Given the description of an element on the screen output the (x, y) to click on. 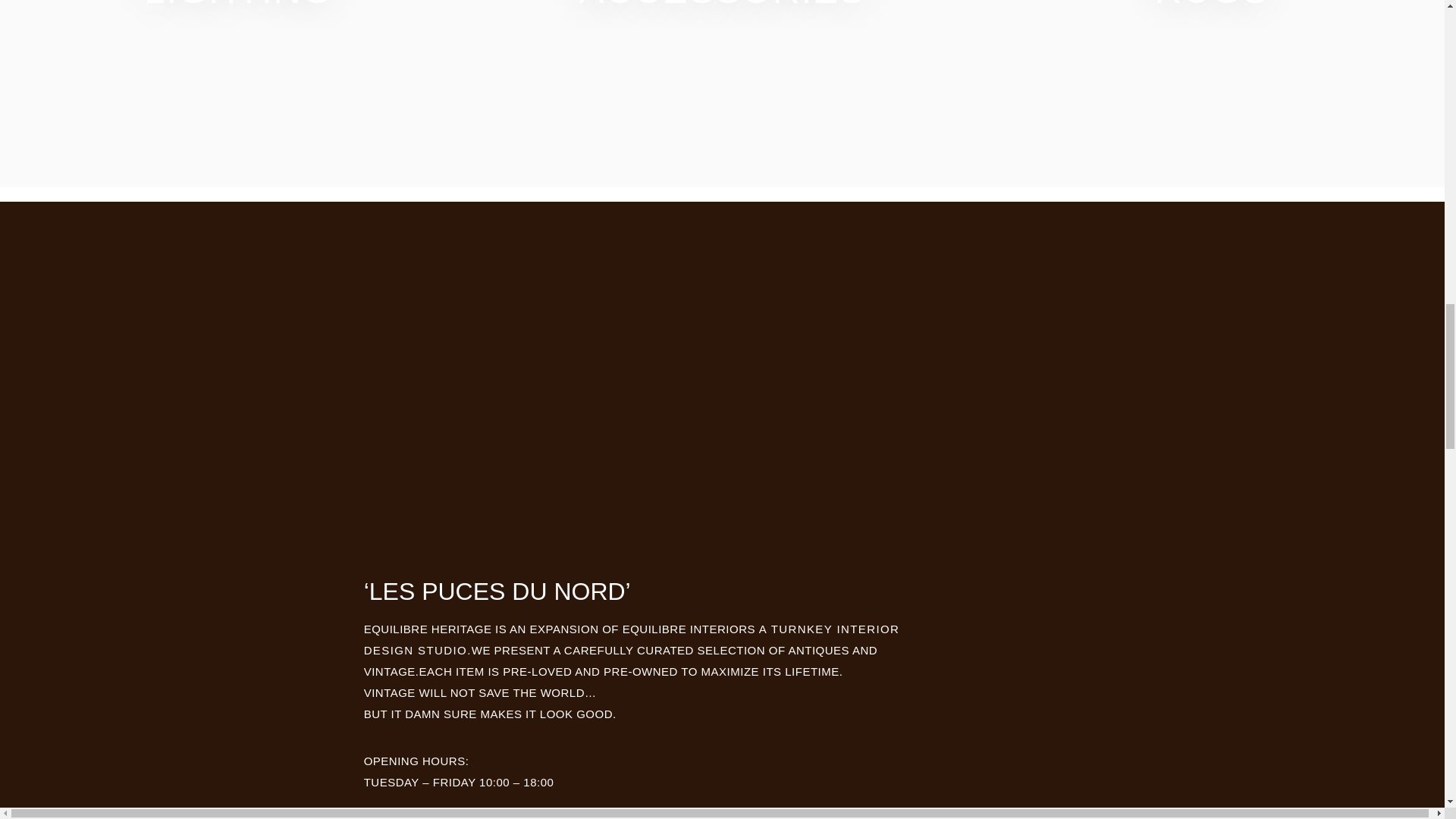
LIGHTING (237, 9)
RUGS (1212, 9)
ACCESSORIES (721, 9)
